Given the description of an element on the screen output the (x, y) to click on. 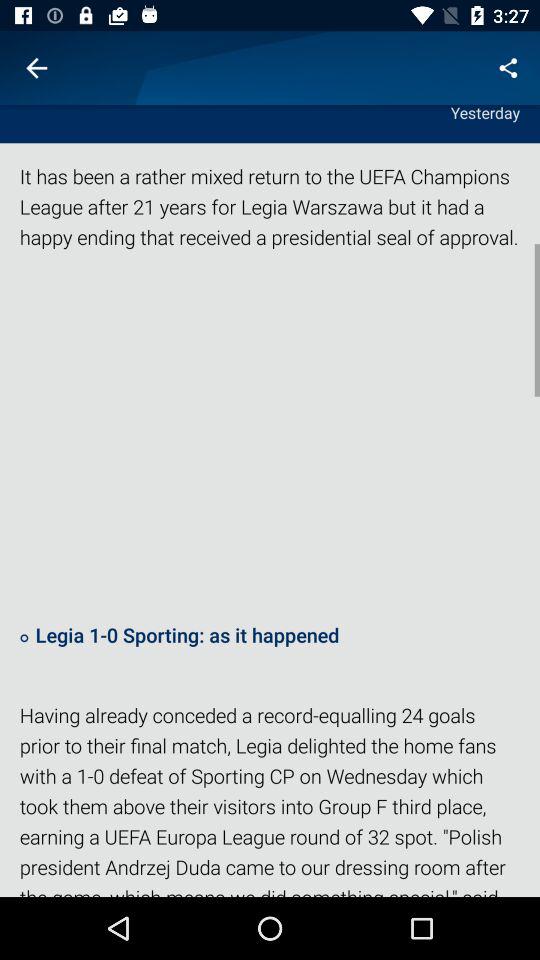
turn on item below legia 1 0 (269, 797)
